Given the description of an element on the screen output the (x, y) to click on. 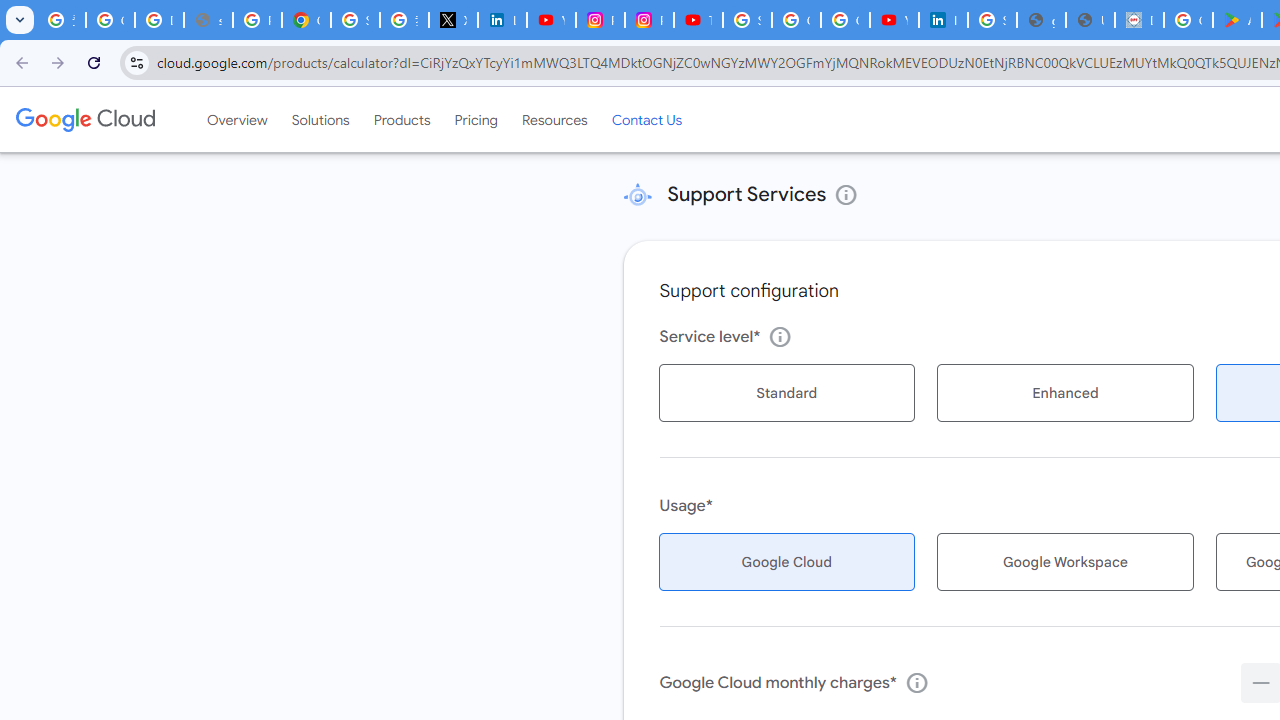
tooltip (916, 682)
Solutions (320, 119)
Sign in - Google Accounts (747, 20)
Products (401, 119)
Android Apps on Google Play (1237, 20)
Sign in - Google Accounts (992, 20)
YouTube Content Monetization Policies - How YouTube Works (551, 20)
google_privacy_policy_en.pdf (1041, 20)
LinkedIn Privacy Policy (502, 20)
Contact Us (646, 119)
